Given the description of an element on the screen output the (x, y) to click on. 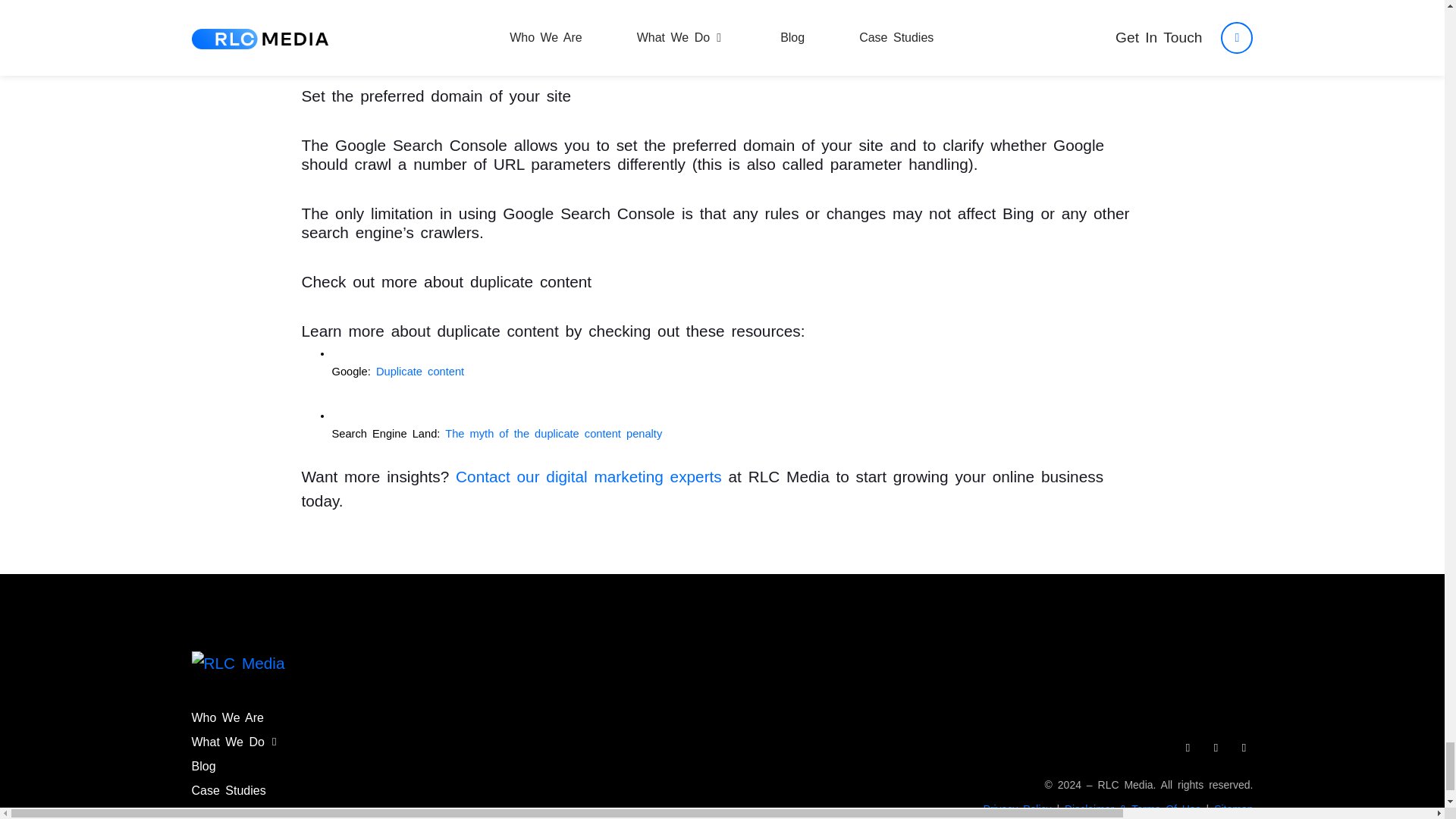
The myth of the duplicate content penalty (553, 433)
Contact our digital marketing experts (591, 476)
Duplicate content (419, 371)
